Given the description of an element on the screen output the (x, y) to click on. 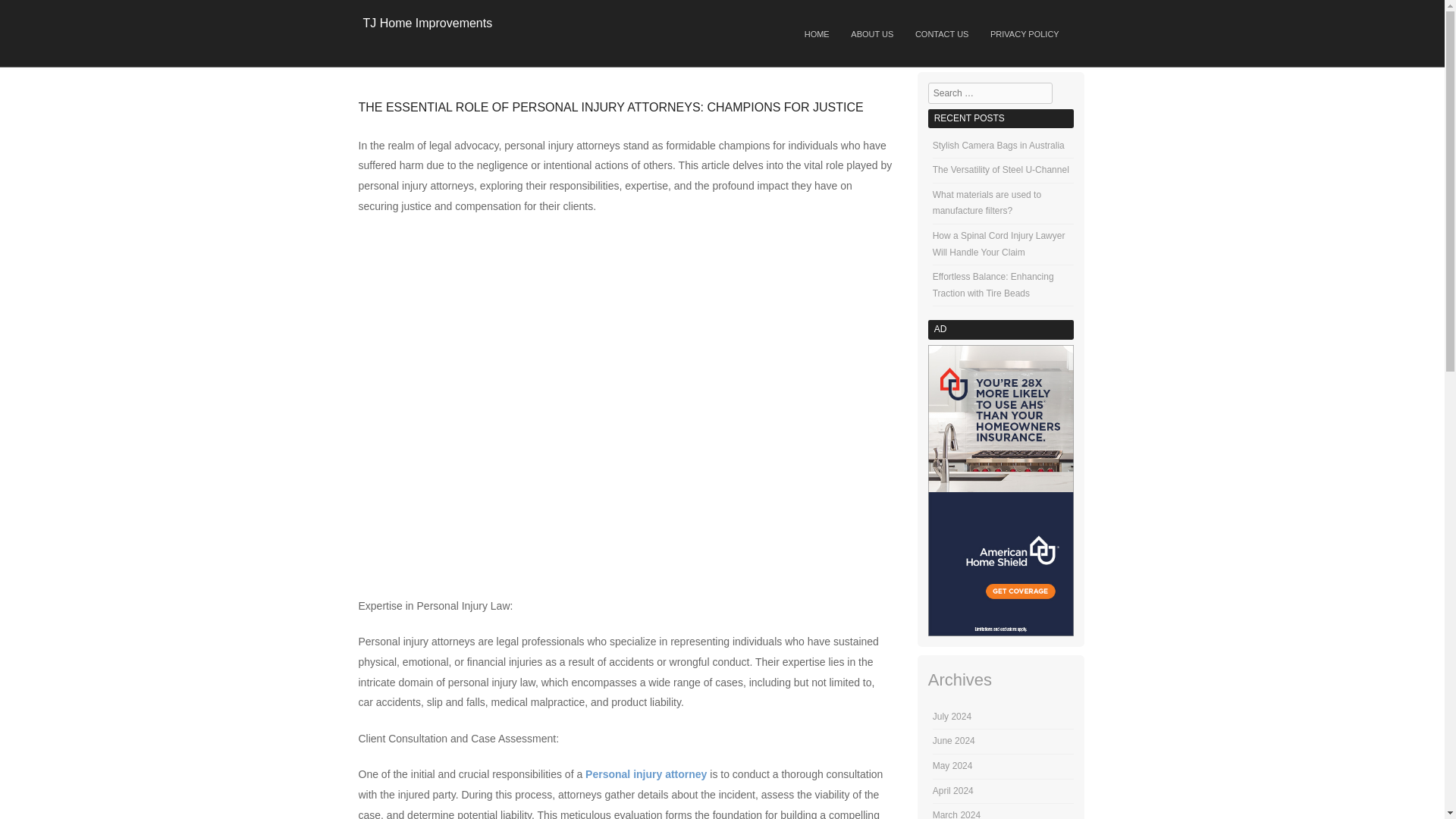
May 2024 (952, 765)
Search (26, 14)
Skip to content (620, 28)
Effortless Balance: Enhancing Traction with Tire Beads (993, 284)
March 2024 (956, 814)
PRIVACY POLICY (1024, 34)
ABOUT US (872, 34)
June 2024 (954, 740)
April 2024 (953, 790)
July 2024 (952, 716)
